Given the description of an element on the screen output the (x, y) to click on. 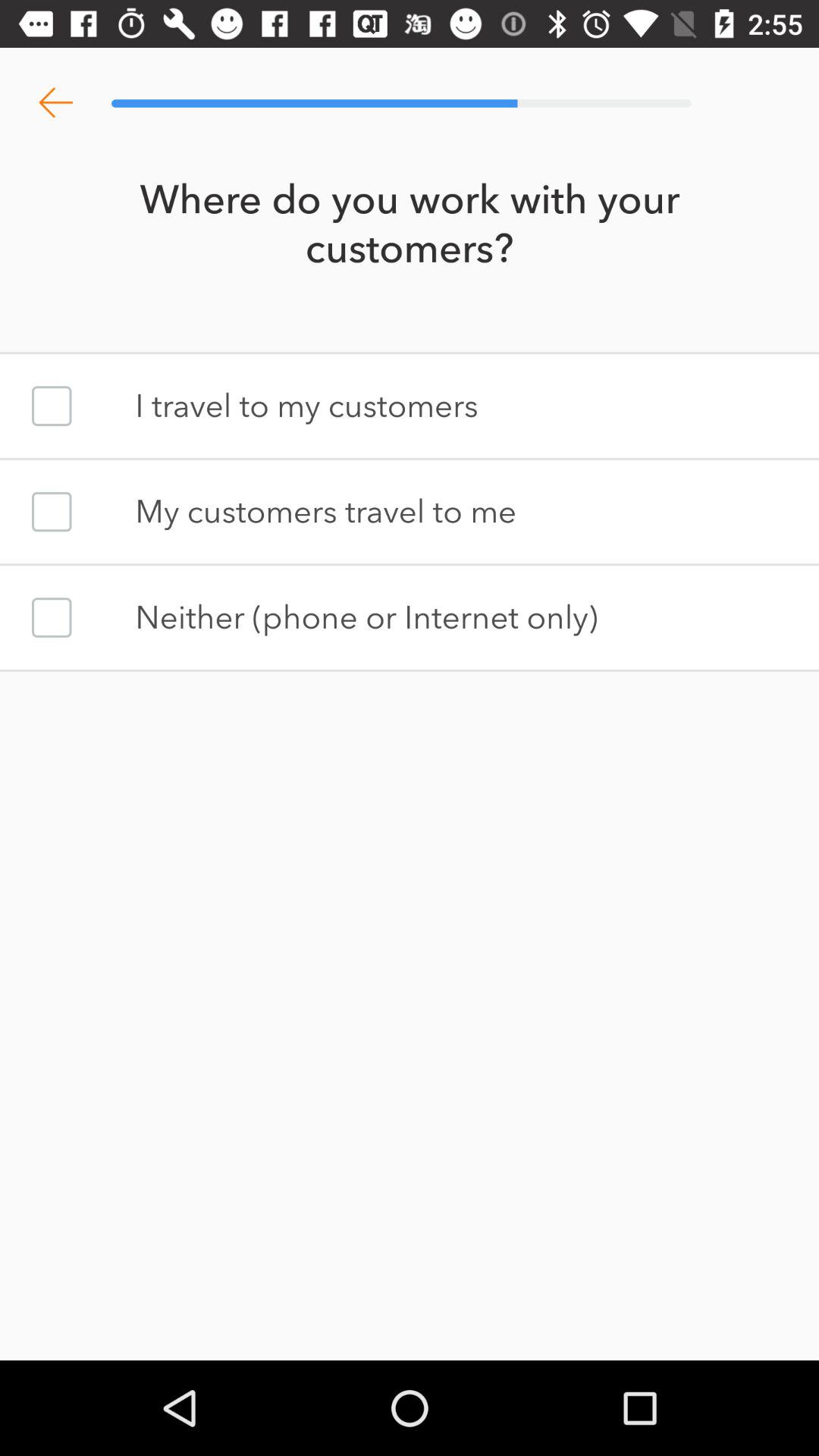
click item above the where do you (55, 103)
